Given the description of an element on the screen output the (x, y) to click on. 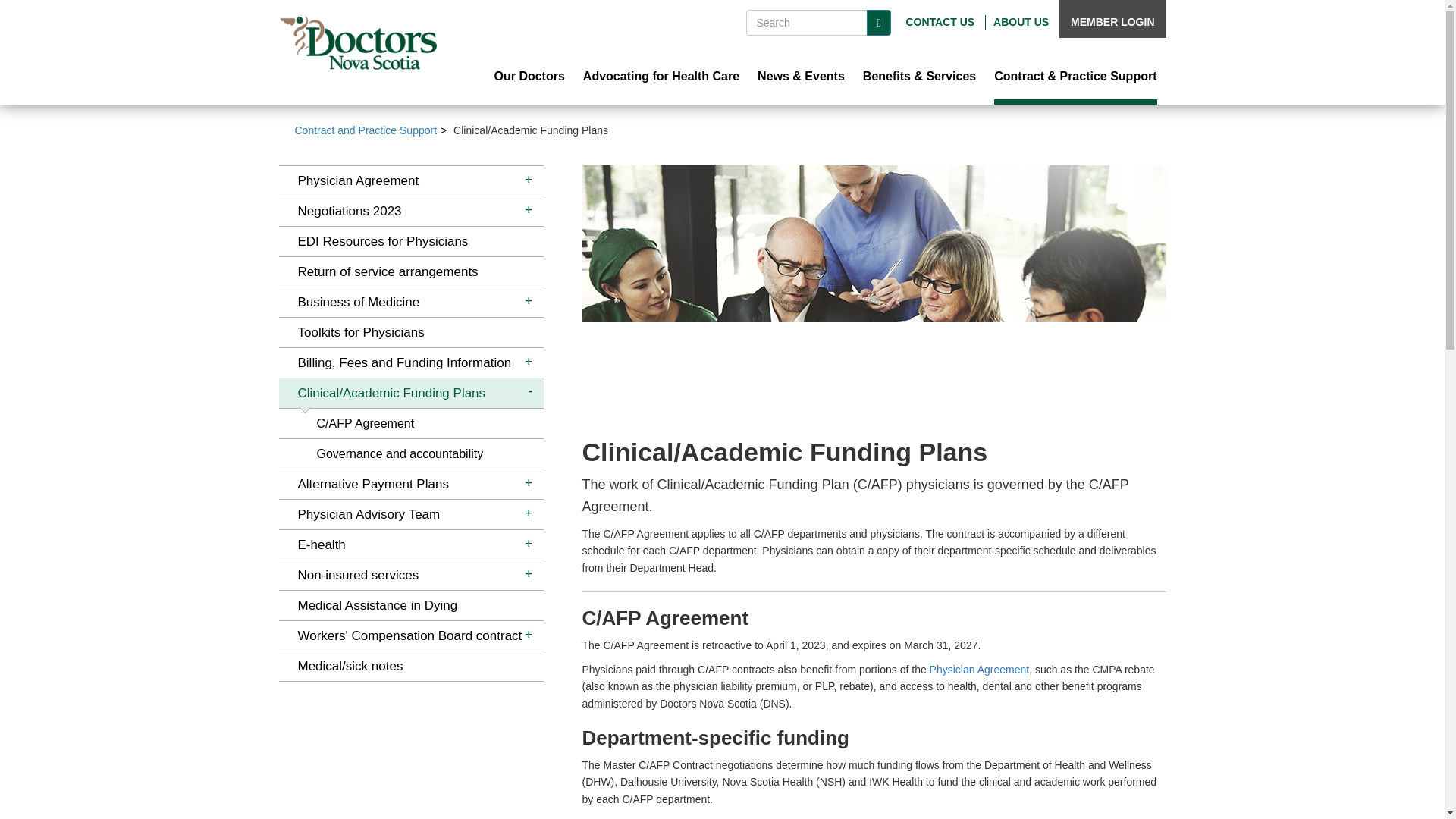
ABOUT US (1020, 21)
CONTACT US (939, 21)
Our Doctors Description (529, 77)
MEMBER LOGIN (1112, 21)
Search (877, 22)
Home (358, 43)
